Given the description of an element on the screen output the (x, y) to click on. 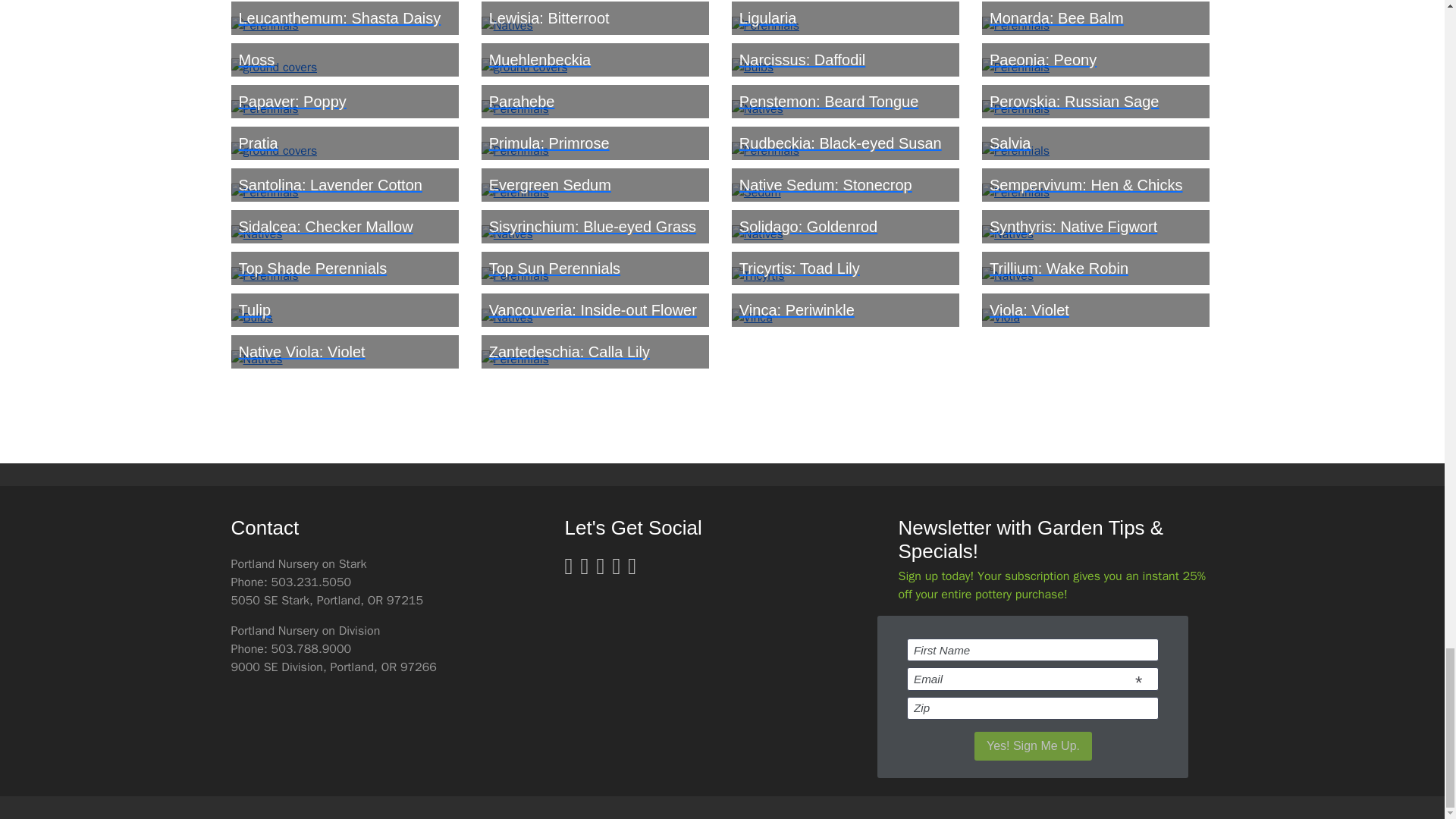
Yes! Sign Me Up. (1033, 746)
